Given the description of an element on the screen output the (x, y) to click on. 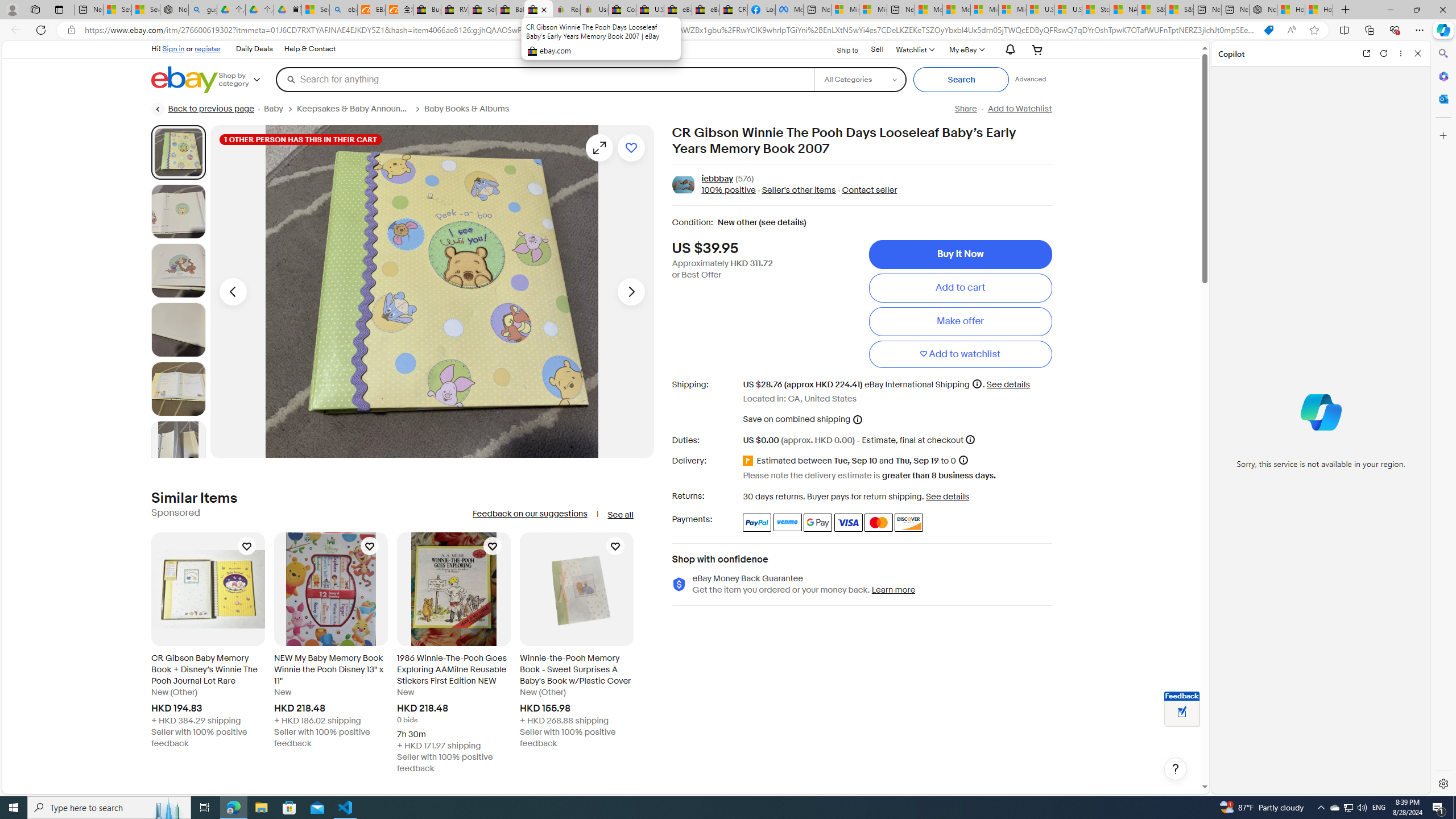
Information - Estimated delivery date - opens a layer (962, 460)
Sell (877, 49)
Picture 6 of 22 (178, 447)
Master Card (877, 521)
100% positive (728, 190)
Venmo (787, 521)
Watchlist (914, 49)
Baby Books & Albums (466, 108)
